Given the description of an element on the screen output the (x, y) to click on. 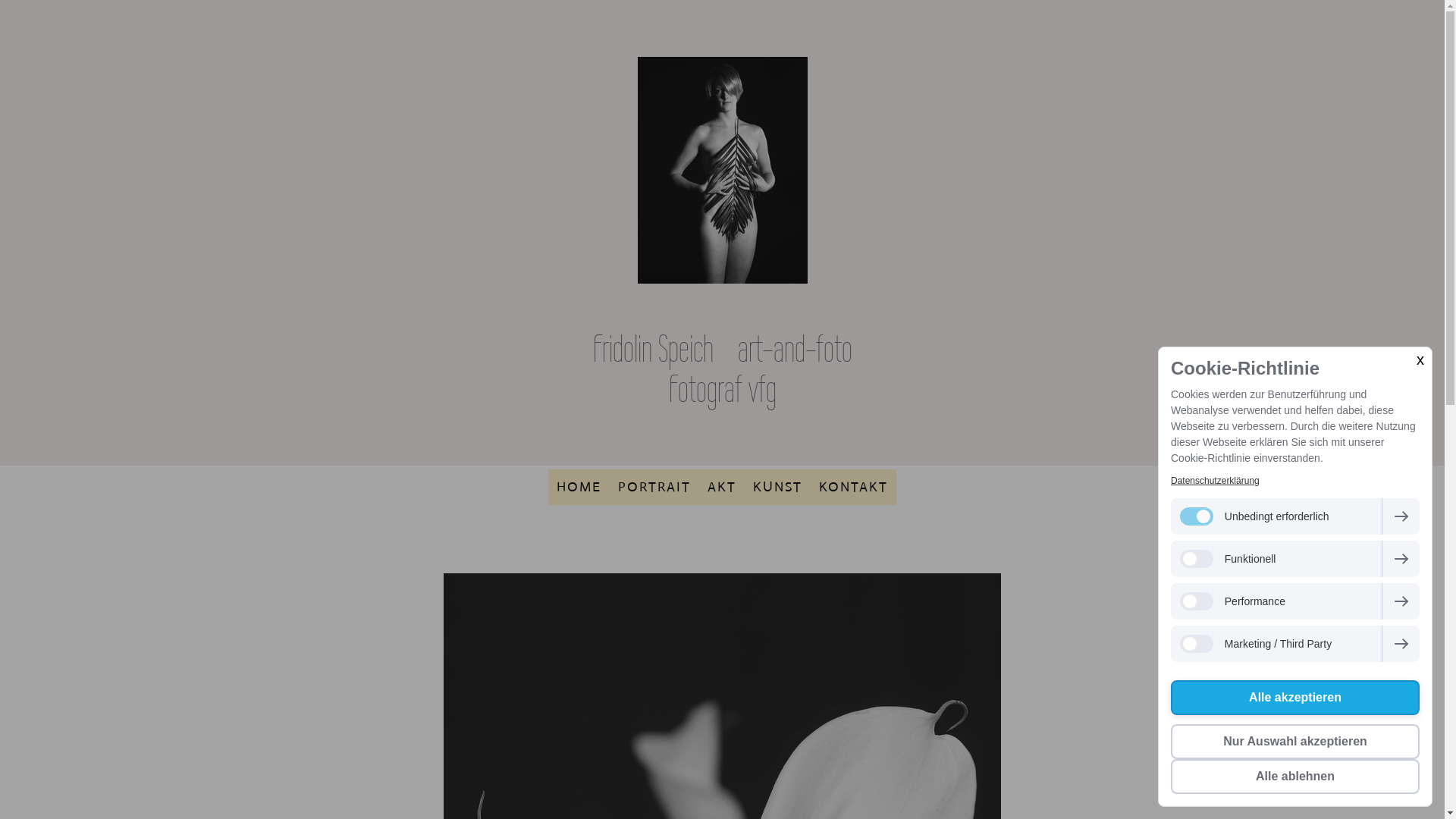
PORTRAIT Element type: text (654, 487)
Alle ablehnen Element type: text (1294, 776)
Fridolin Speich    art-and-foto
Fotograf vfg Element type: text (722, 368)
KUNST Element type: text (777, 487)
HOME Element type: text (578, 487)
Nur Auswahl akzeptieren Element type: text (1294, 741)
AKT Element type: text (721, 487)
KONTAKT Element type: text (853, 487)
Alle akzeptieren Element type: text (1294, 697)
